Given the description of an element on the screen output the (x, y) to click on. 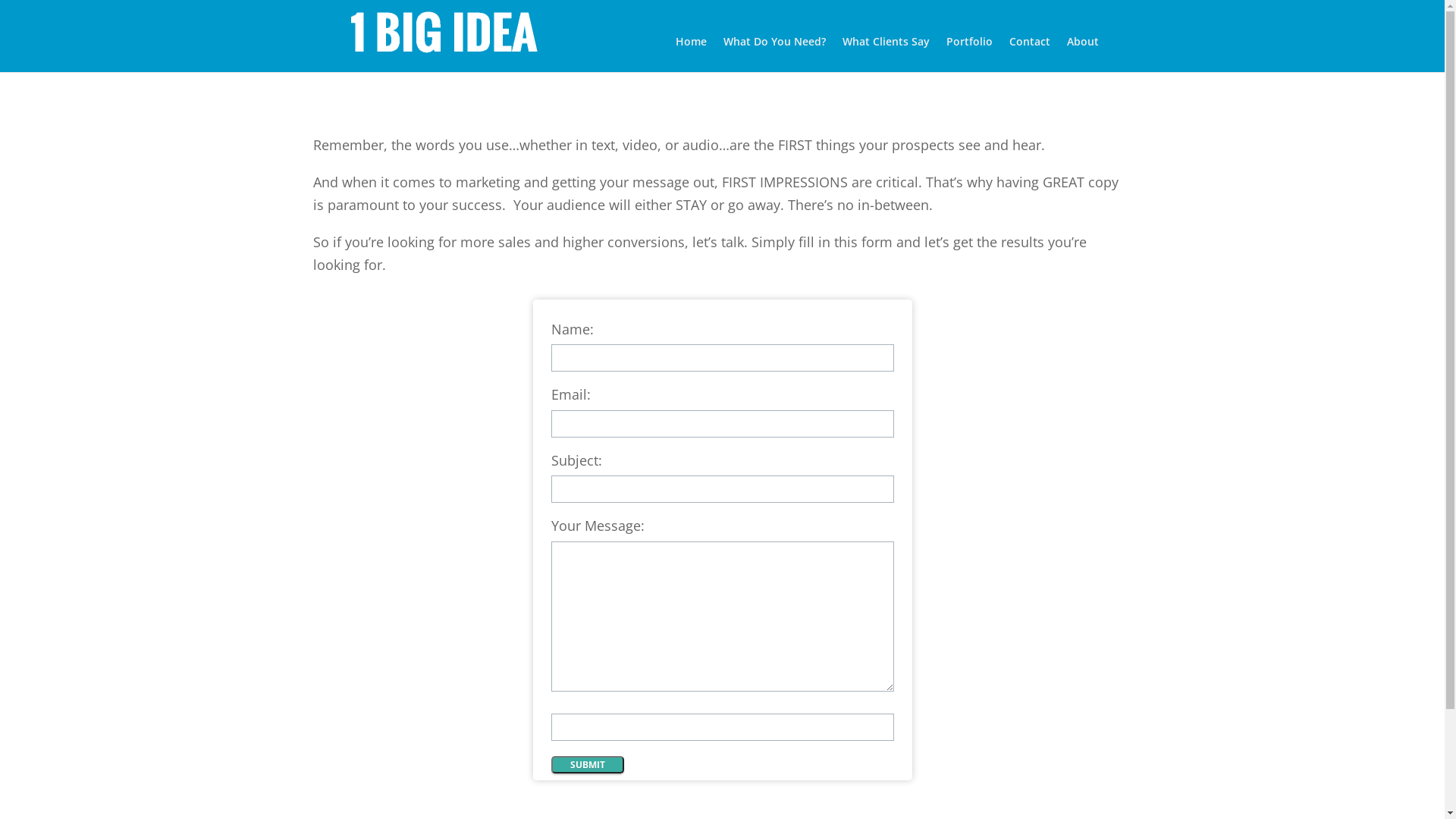
Submit Element type: text (586, 764)
What Do You Need? Element type: text (774, 54)
Portfolio Element type: text (969, 54)
Home Element type: text (690, 54)
Contact Element type: text (1029, 54)
What Clients Say Element type: text (885, 54)
About Element type: text (1082, 54)
